Given the description of an element on the screen output the (x, y) to click on. 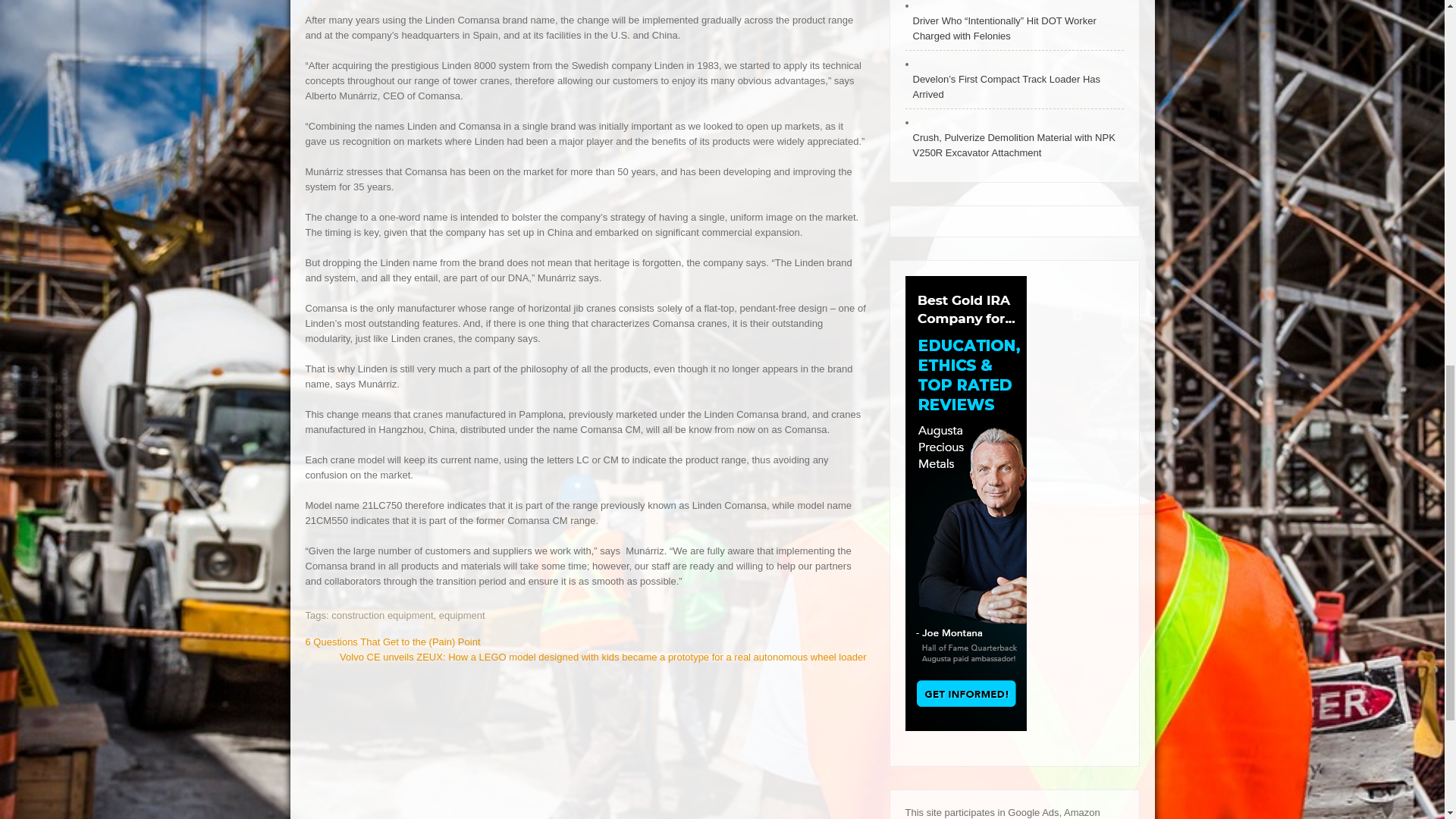
equipment (461, 614)
construction equipment (381, 614)
